Given the description of an element on the screen output the (x, y) to click on. 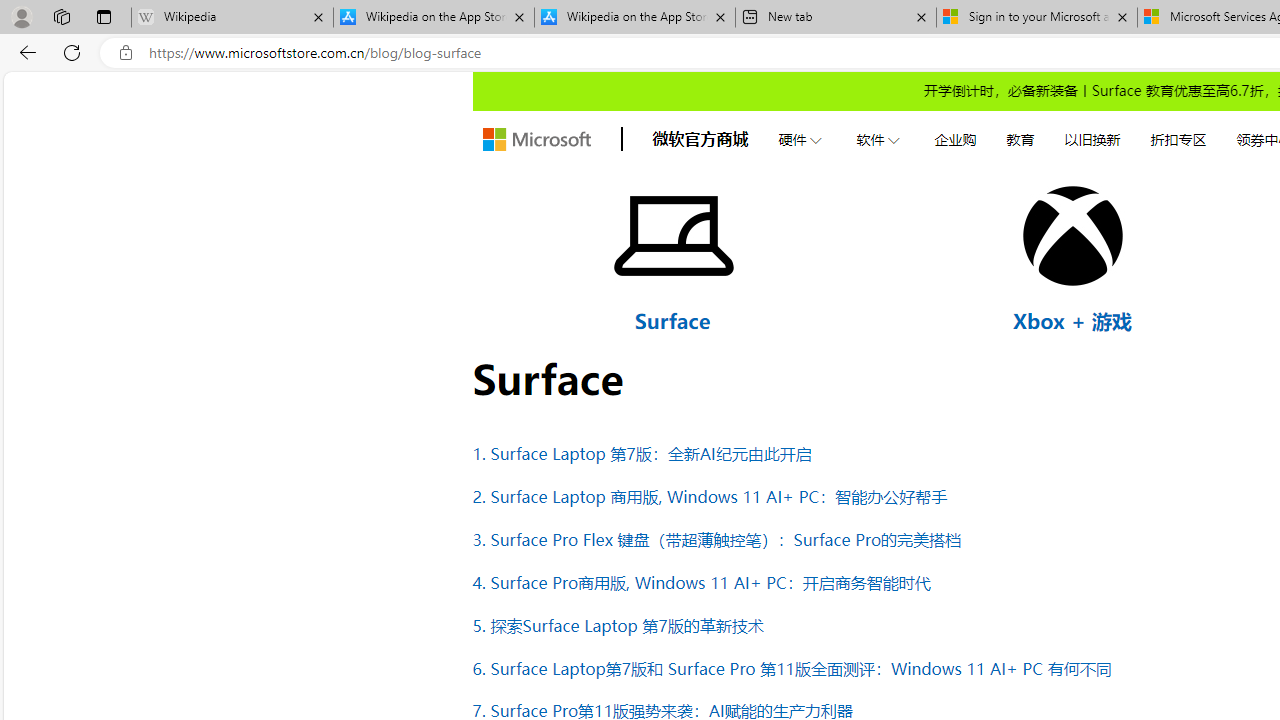
Workspaces (61, 16)
store logo (536, 139)
Personal Profile (21, 16)
View site information (125, 53)
Tab actions menu (104, 16)
Sign in to your Microsoft account (1036, 17)
Refresh (72, 52)
